Given the description of an element on the screen output the (x, y) to click on. 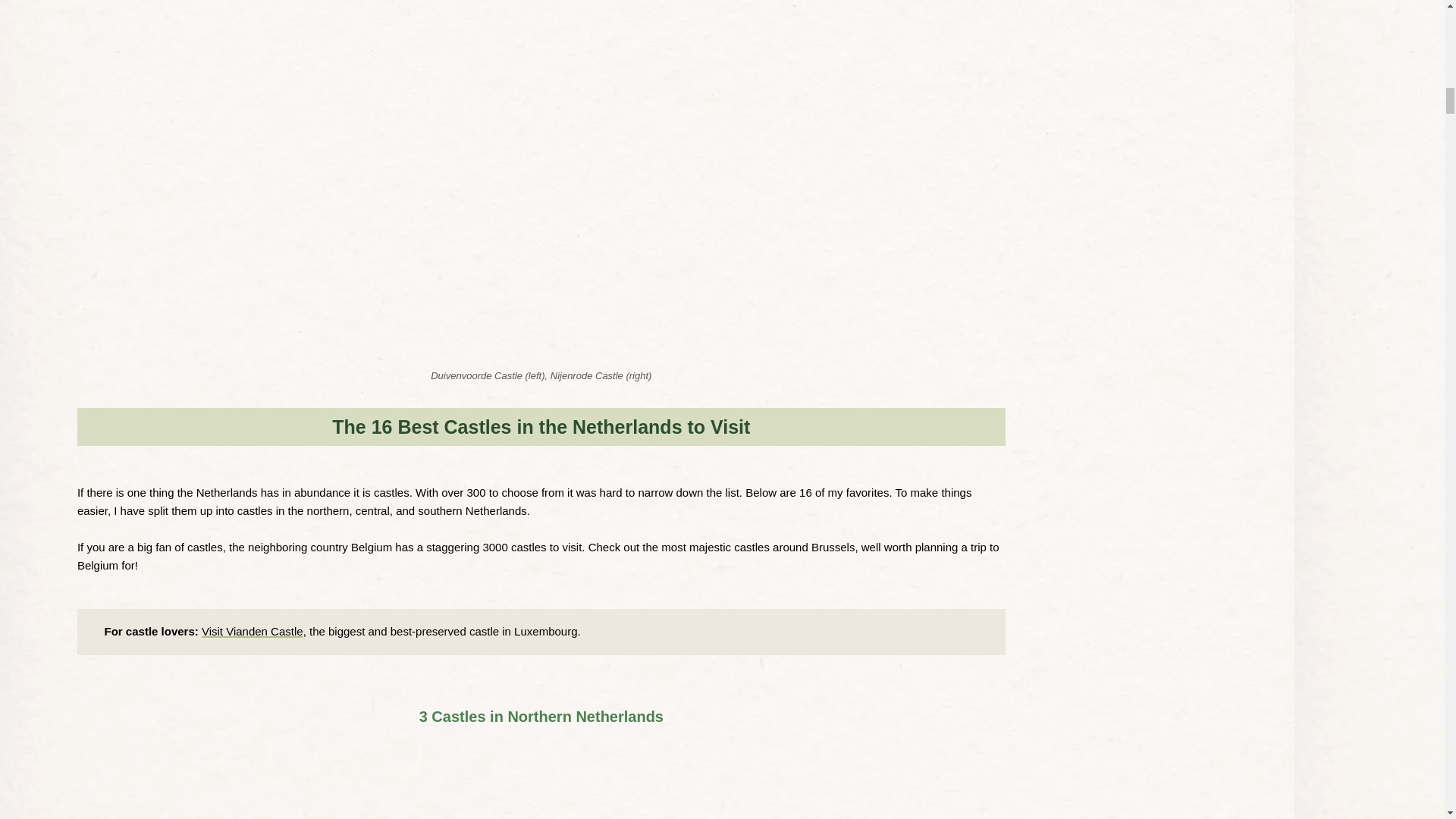
16 Most Beautiful Castles in the Netherlands (465, 744)
16 Most Beautiful Castles in the Netherlands (475, 809)
16 Most Beautiful Castles in the Netherlands (465, 689)
